Given the description of an element on the screen output the (x, y) to click on. 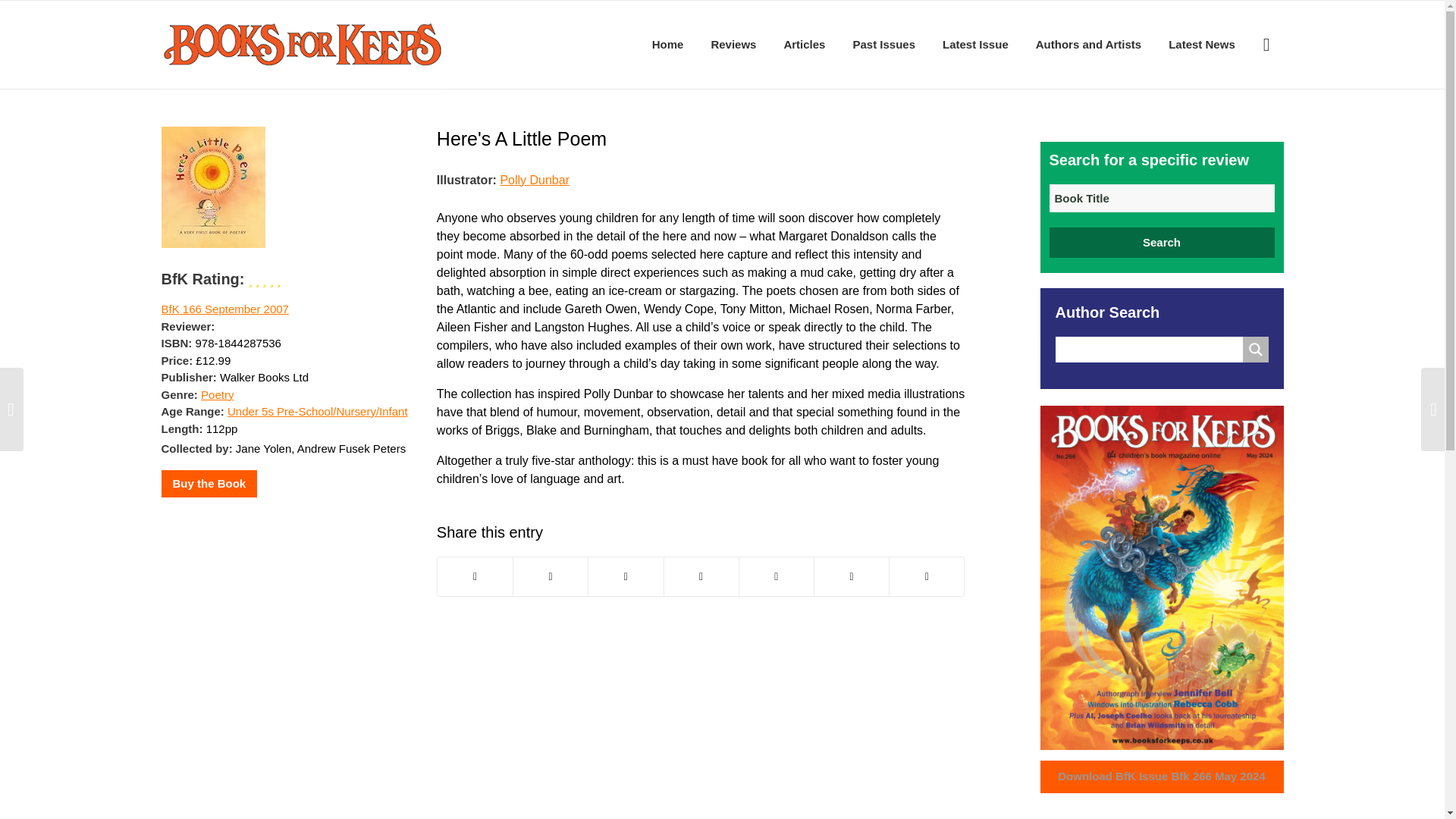
Polly Dunbar (534, 178)
Poetry (216, 394)
Search (1162, 242)
Past Issues (883, 44)
Permanent Link: Here (521, 138)
Authors and Artists (1088, 44)
Buy the Book (208, 483)
Here'S A Little Poem (521, 138)
Latest News (1201, 44)
BfK 166 September 2007 (224, 308)
Latest Issue (975, 44)
Download BfK Issue Bfk 266 May 2024 (1162, 776)
Search (1162, 242)
